Given the description of an element on the screen output the (x, y) to click on. 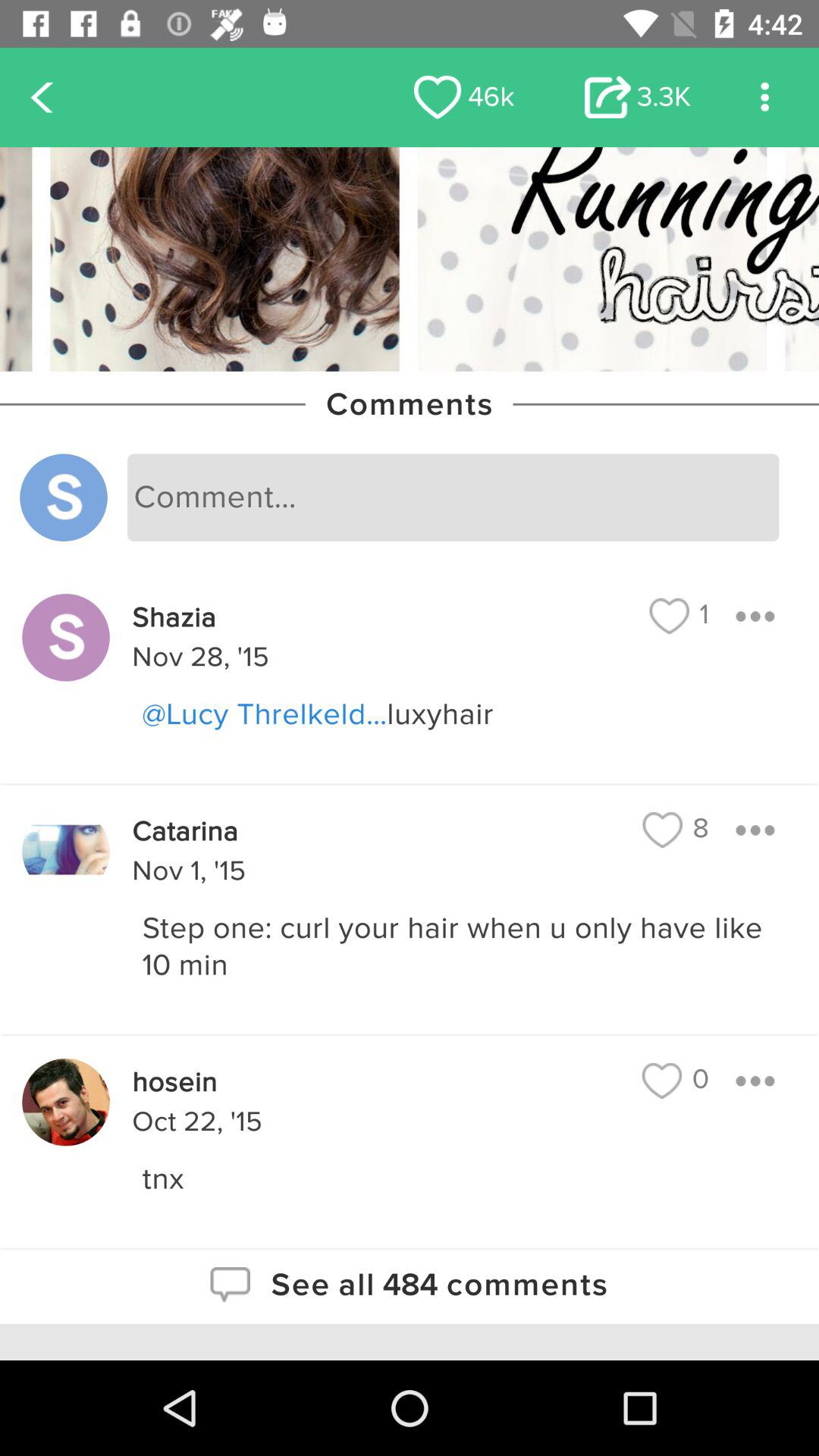
choose item to the left of 3.3k icon (464, 97)
